Given the description of an element on the screen output the (x, y) to click on. 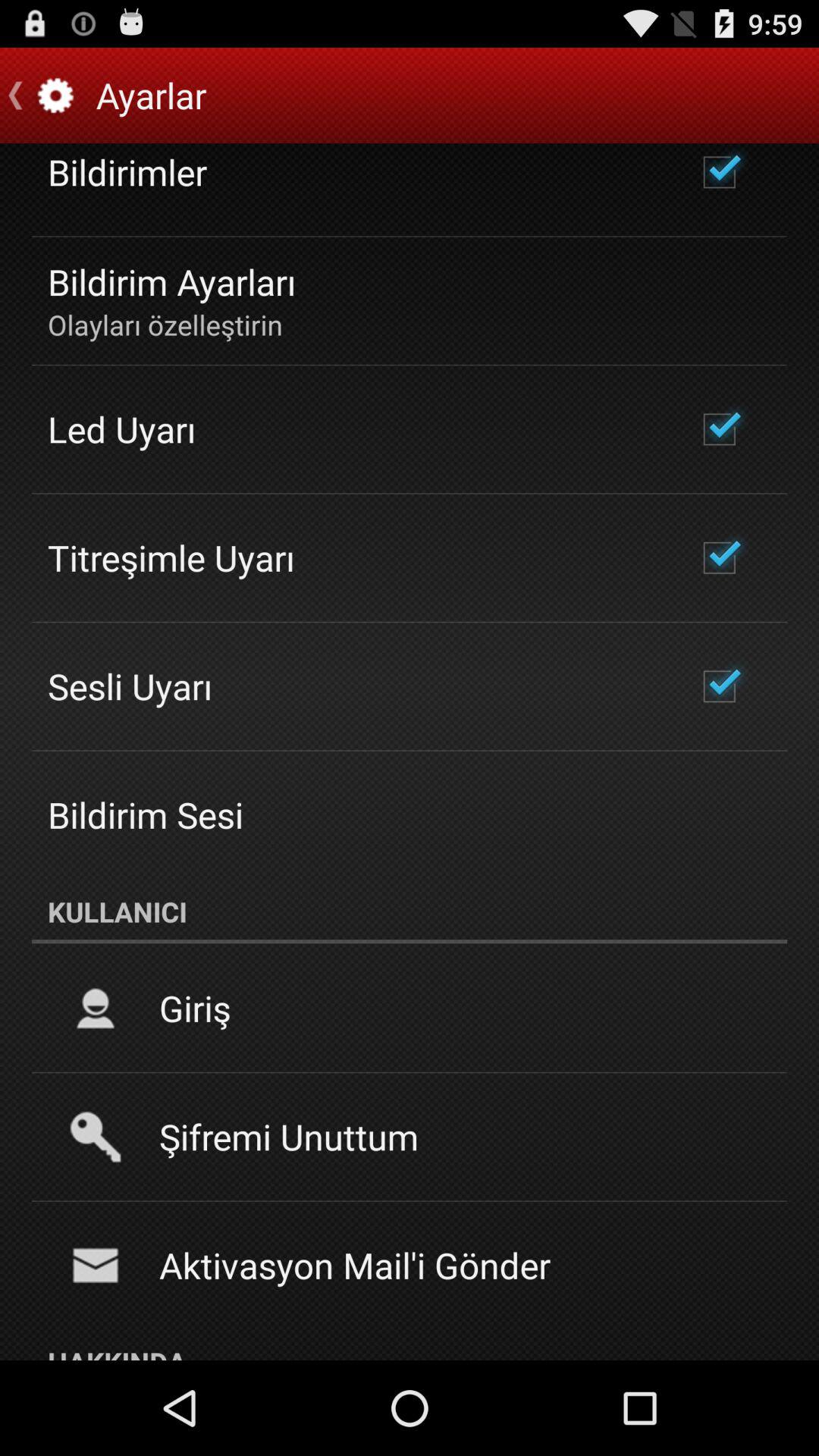
open the aktivasyon mail i icon (354, 1265)
